Given the description of an element on the screen output the (x, y) to click on. 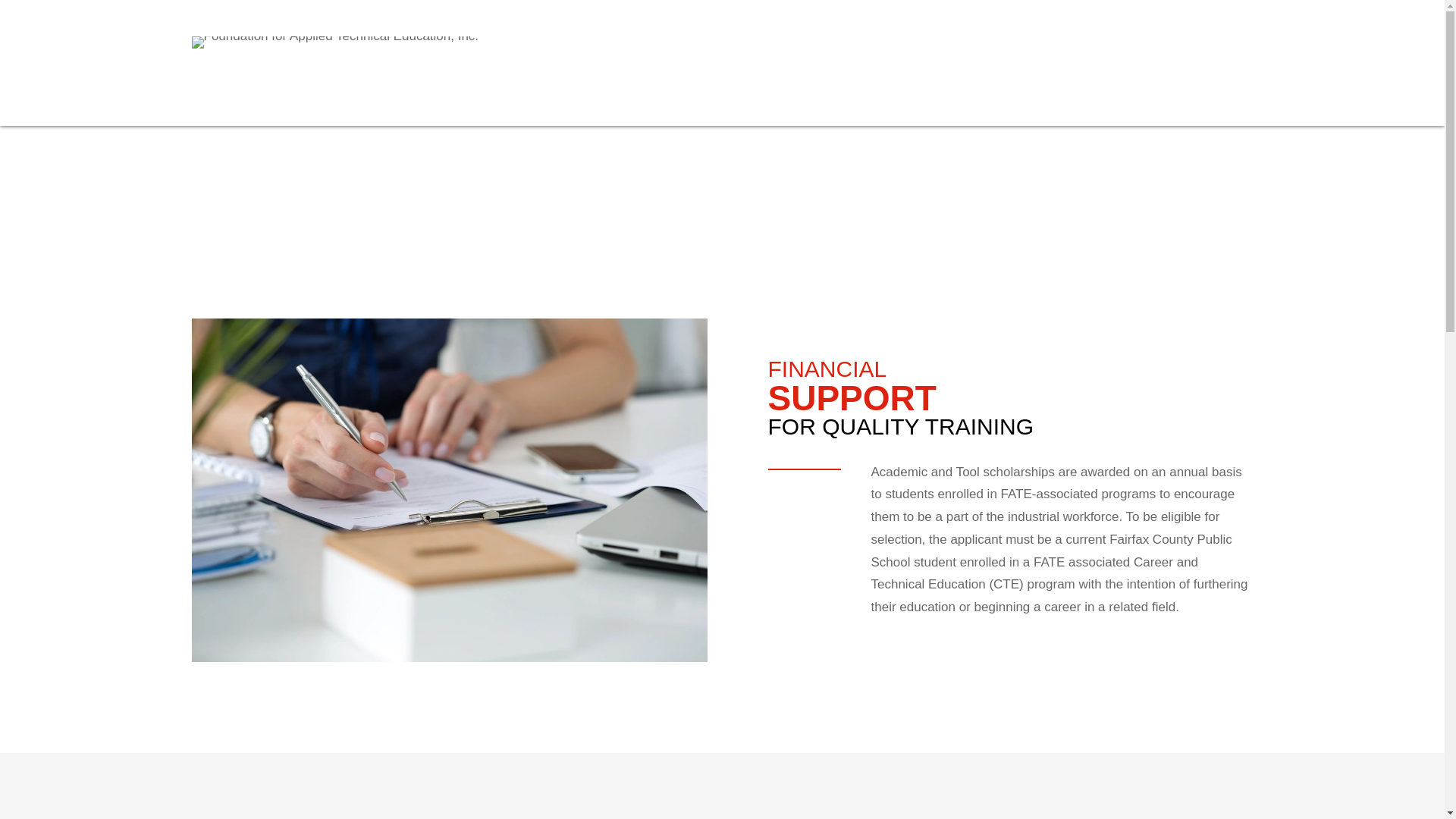
CTE GRANT (1014, 63)
ABOUT US (686, 63)
SCHOLARSHIPS (902, 63)
Foundation for Applied Technical Education, Inc. (334, 42)
GALLERY (1111, 63)
PROGRAMS (785, 63)
CONTACT US (1210, 63)
